Given the description of an element on the screen output the (x, y) to click on. 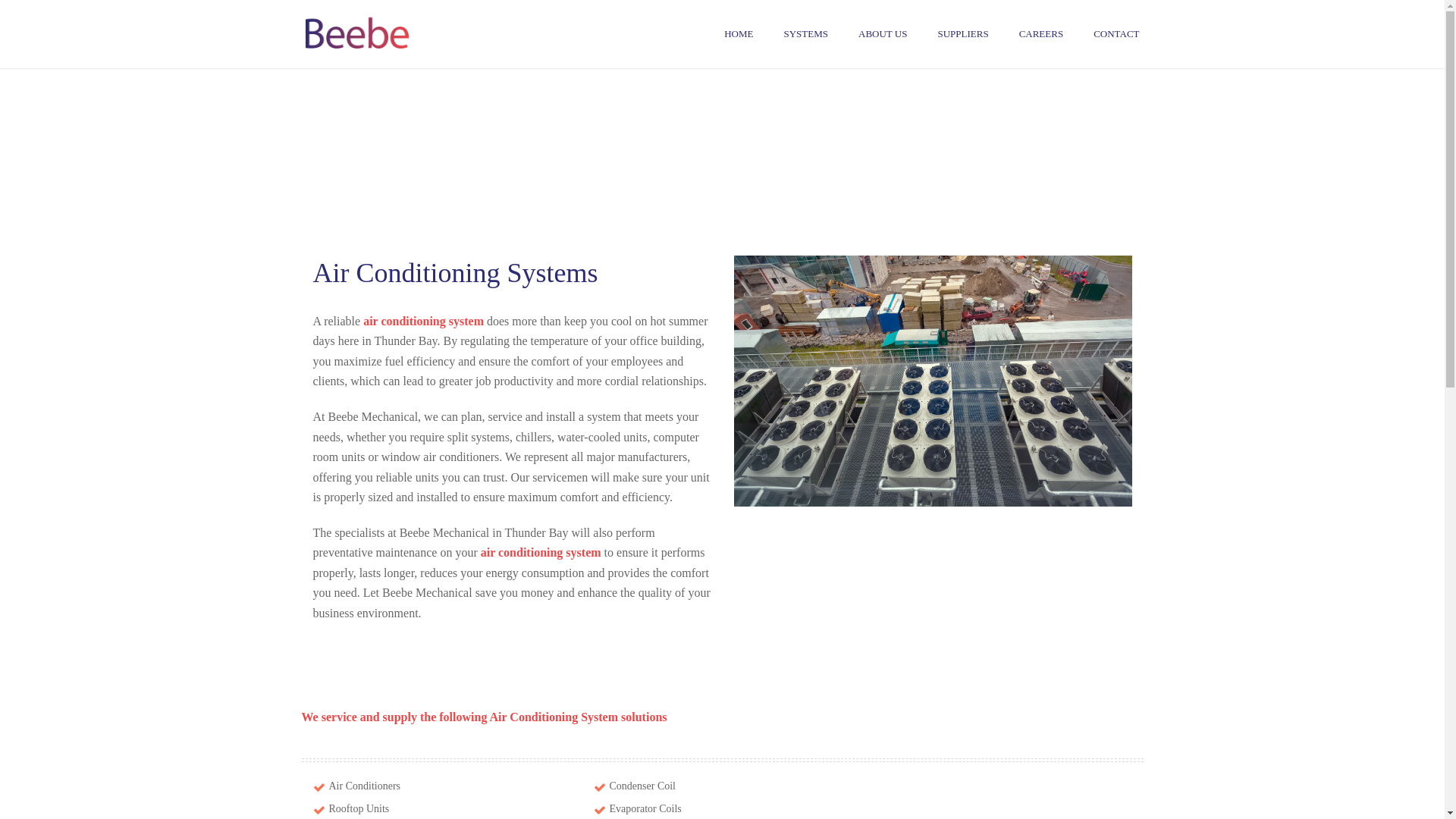
Commercial Mechanical Systems Element type: hover (379, 34)
SYSTEMS Element type: text (805, 34)
SUPPLIERS Element type: text (962, 34)
HOME Element type: text (738, 34)
CONTACT Element type: text (1116, 34)
ABOUT US Element type: text (882, 34)
CAREERS Element type: text (1041, 34)
